Given the description of an element on the screen output the (x, y) to click on. 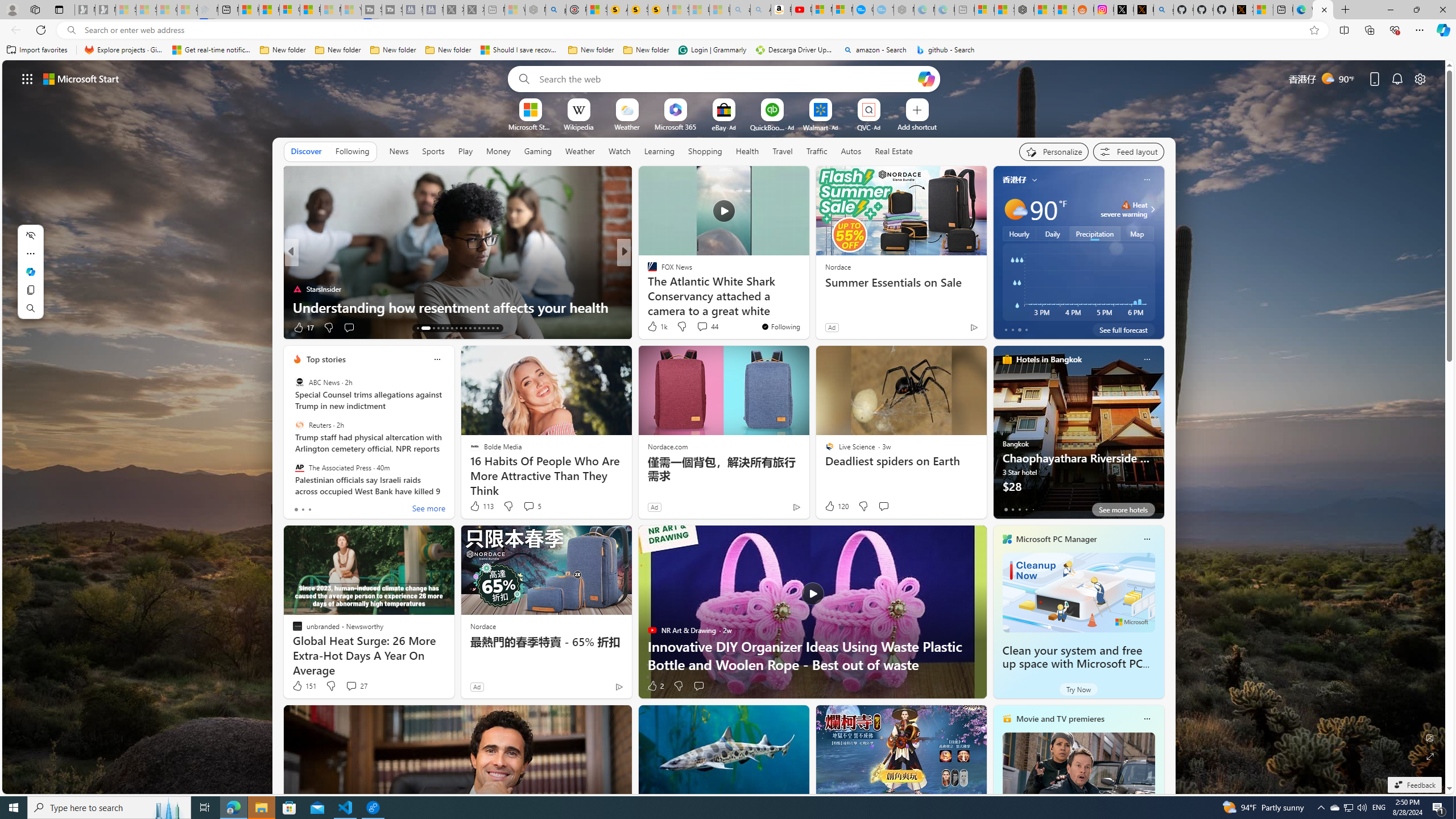
Chaophayathara Riverside Hotel (1078, 436)
View comments 5 Comment (528, 505)
View comments 4 Comment (698, 327)
AutomationID: tab-23 (470, 328)
AutomationID: tab-17 (442, 328)
3 PM 4 PM 5 PM 6 PM (1077, 282)
Hide menu (30, 235)
AutomationID: tab-25 (478, 328)
113 Like (480, 505)
View comments 191 Comment (6, 327)
More actions (30, 253)
Microsoft Start - Sleeping (330, 9)
